Given the description of an element on the screen output the (x, y) to click on. 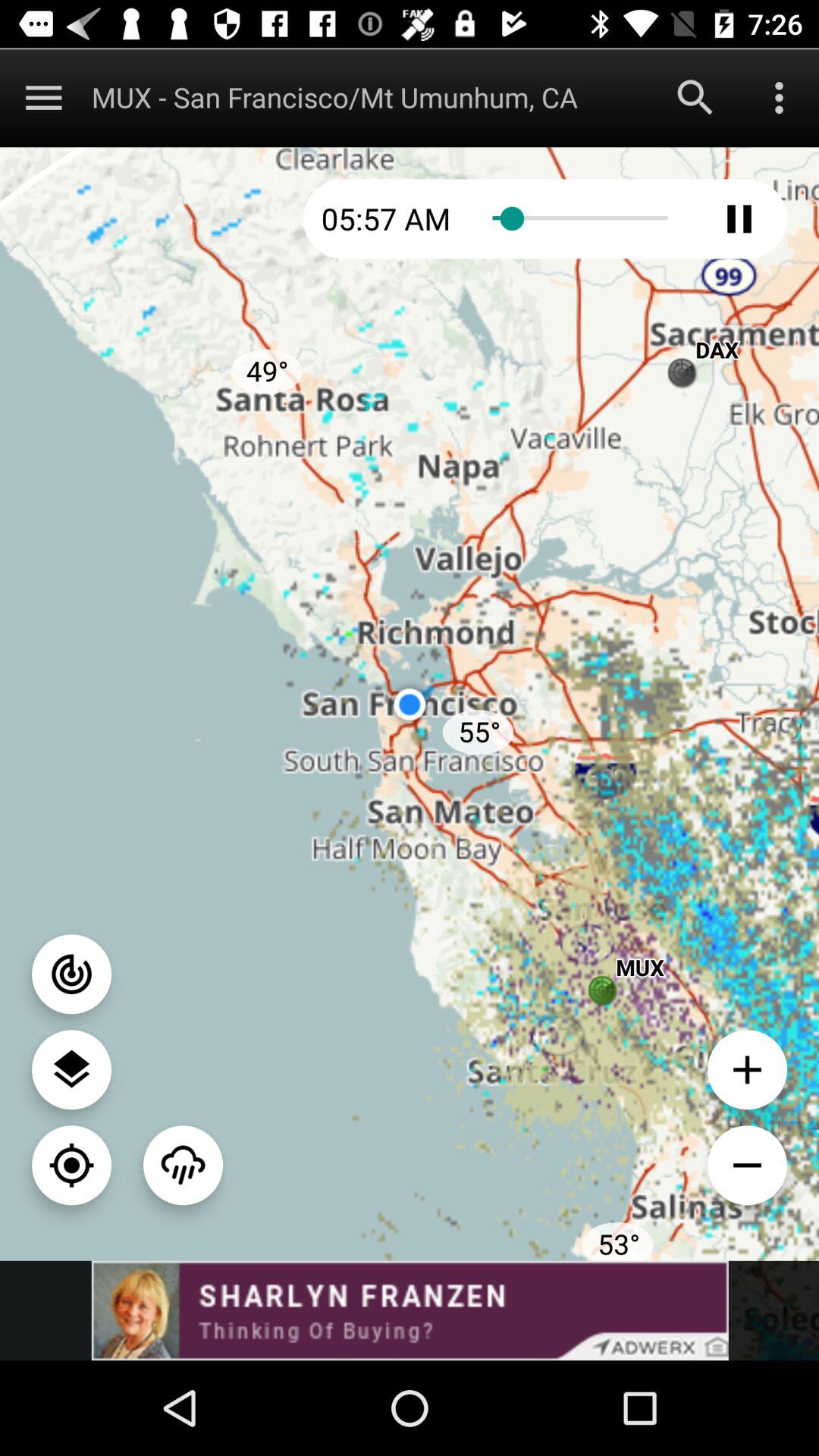
zoom in (747, 1069)
